Given the description of an element on the screen output the (x, y) to click on. 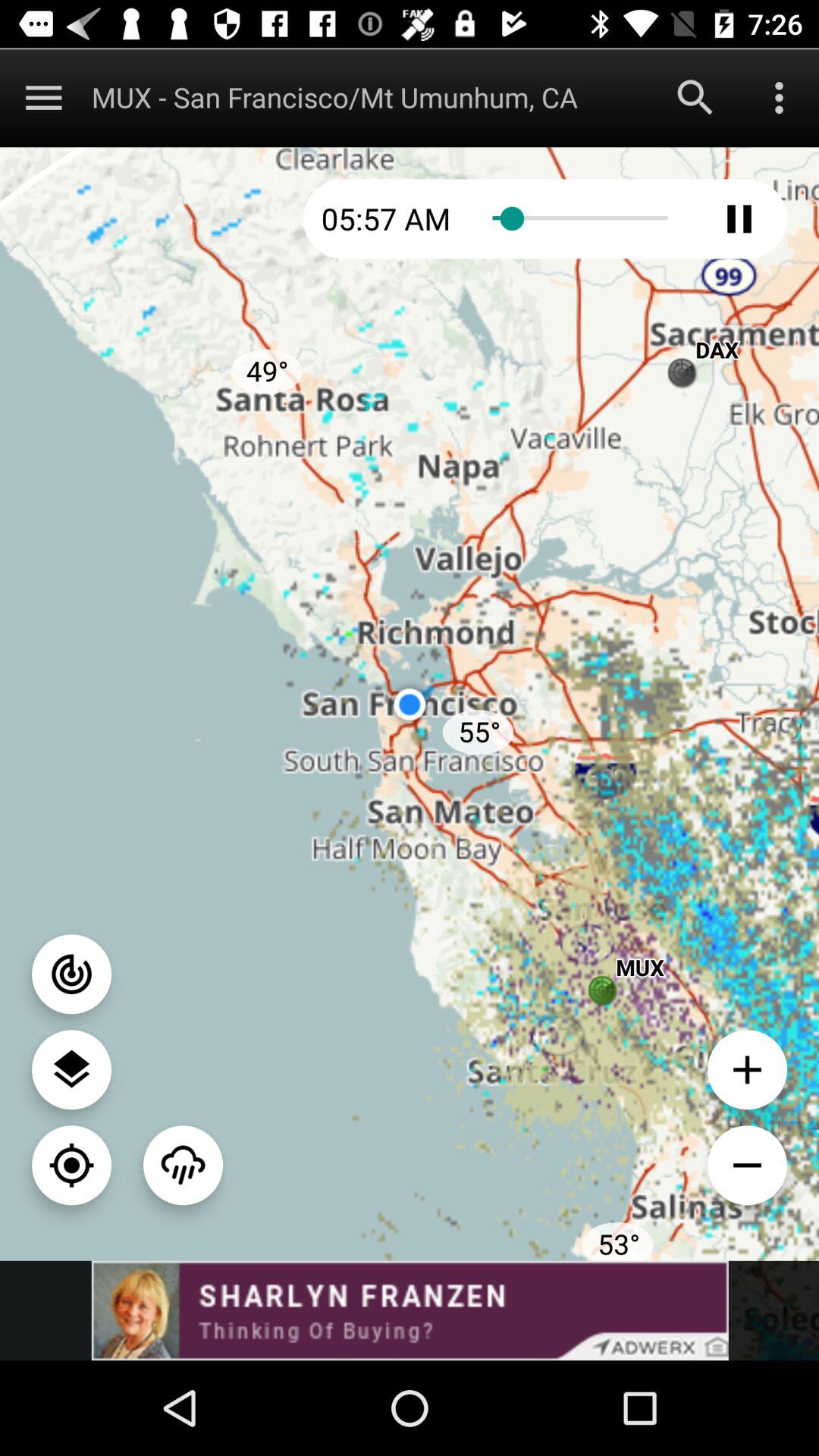
zoom in (747, 1069)
